Given the description of an element on the screen output the (x, y) to click on. 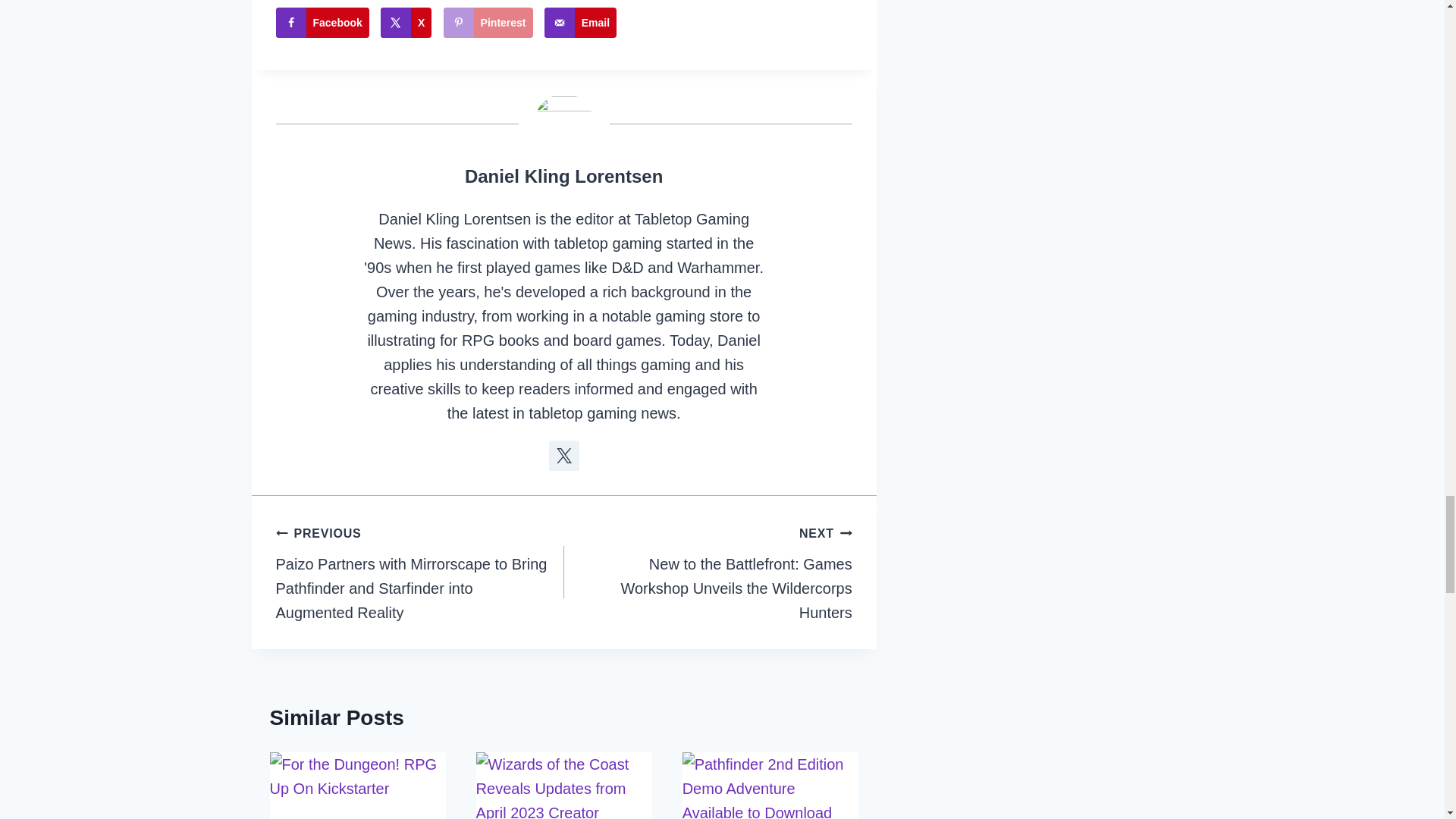
Share on X (405, 22)
Save to Pinterest (488, 22)
Facebook (322, 22)
Send over email (579, 22)
Follow Daniel Kling Lorentsen on X formerly Twitter (563, 455)
Posts by Daniel Kling Lorentsen (563, 176)
Share on Facebook (322, 22)
X (405, 22)
